Given the description of an element on the screen output the (x, y) to click on. 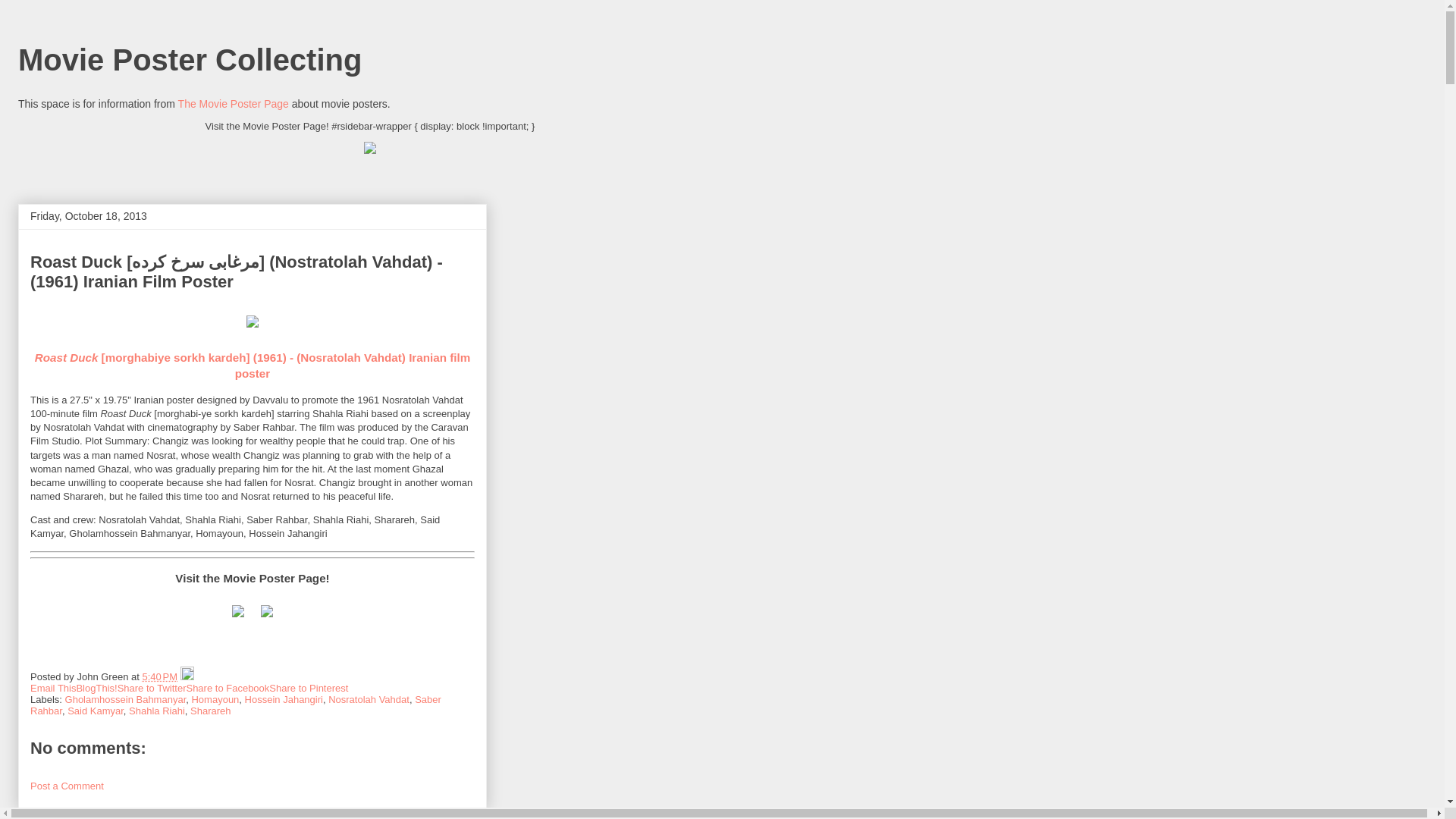
BlogThis! (95, 687)
Post a Comment (66, 785)
Hossein Jahangiri (283, 699)
Shahla Riahi (156, 710)
Share to Twitter (151, 687)
Sharareh (210, 710)
Homayoun (214, 699)
Saber Rahbar (235, 704)
Said Kamyar (94, 710)
Share to Facebook (227, 687)
Email This (52, 687)
Edit Post (186, 676)
Share to Twitter (151, 687)
BlogThis! (95, 687)
Share to Pinterest (308, 687)
